Given the description of an element on the screen output the (x, y) to click on. 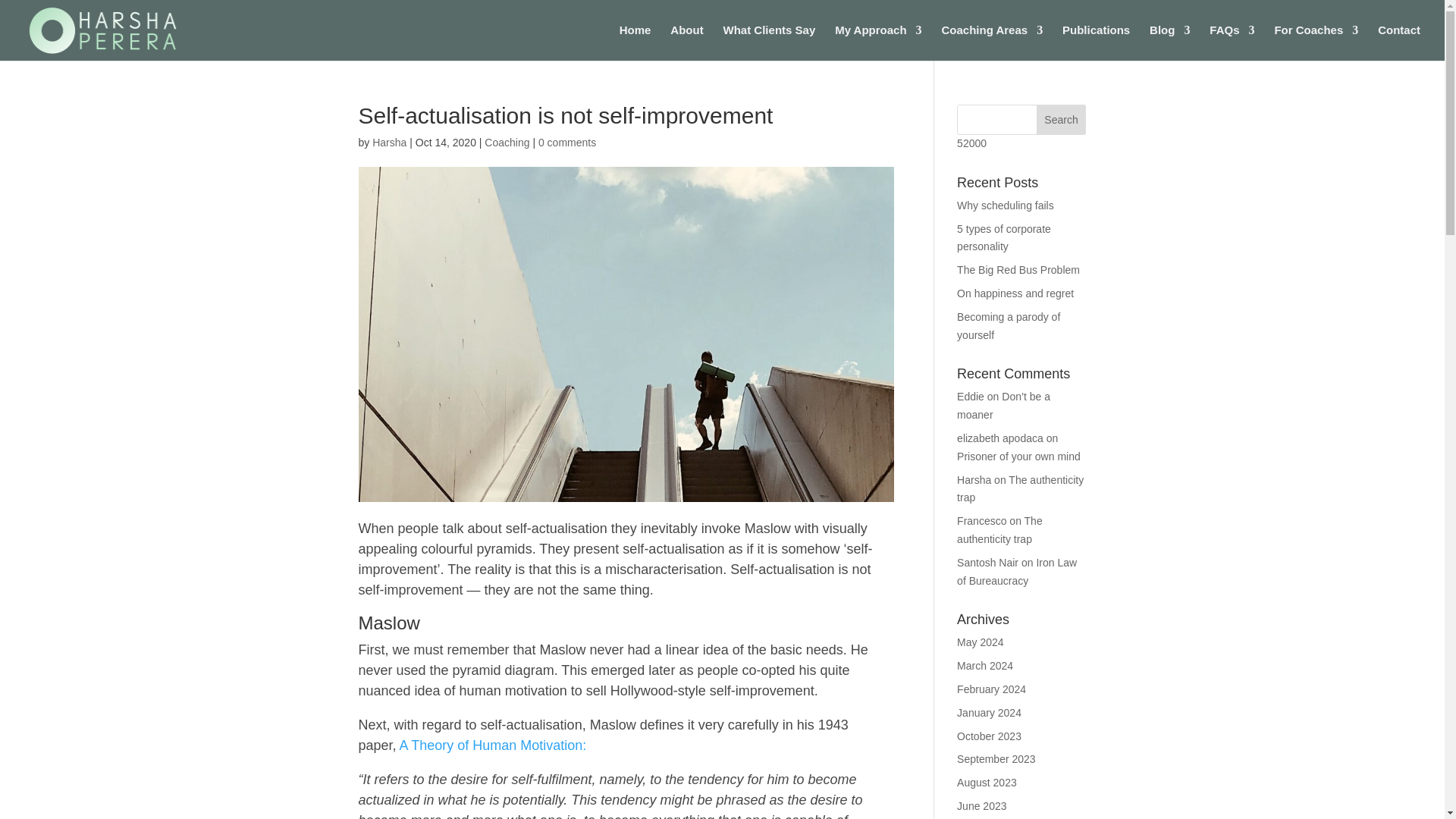
Search (1061, 119)
Contact (1399, 42)
For Coaches (1316, 42)
Coaching (506, 142)
Posts by Harsha (389, 142)
What Clients Say (769, 42)
About (686, 42)
Blog (1169, 42)
Publications (1095, 42)
Home (635, 42)
